Given the description of an element on the screen output the (x, y) to click on. 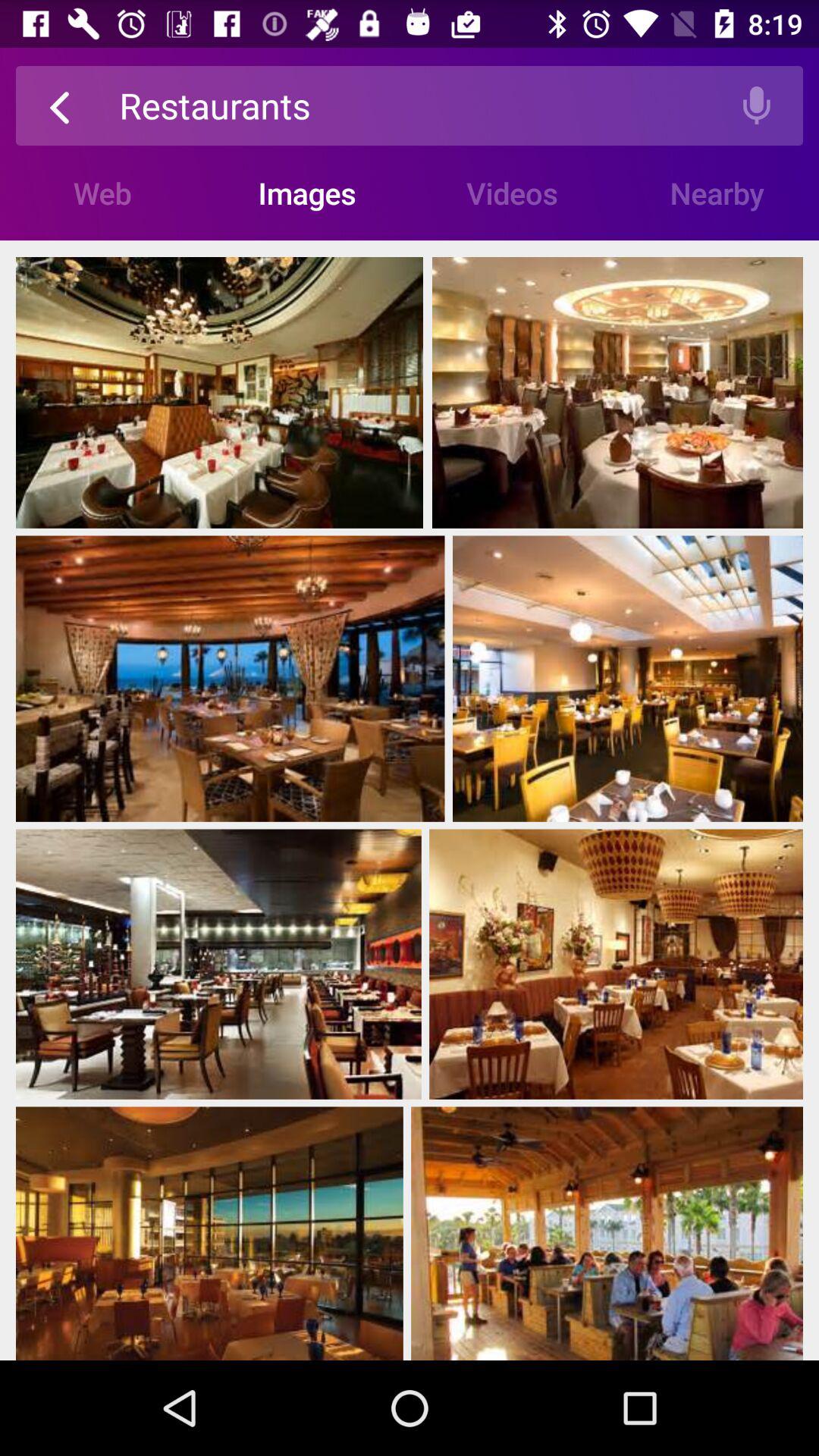
click on the text field bar at the top of the page having a text restaurants (415, 105)
select the first image in third row (218, 964)
select the first image in second row (230, 678)
click on the top right icon of the page (757, 105)
